Given the description of an element on the screen output the (x, y) to click on. 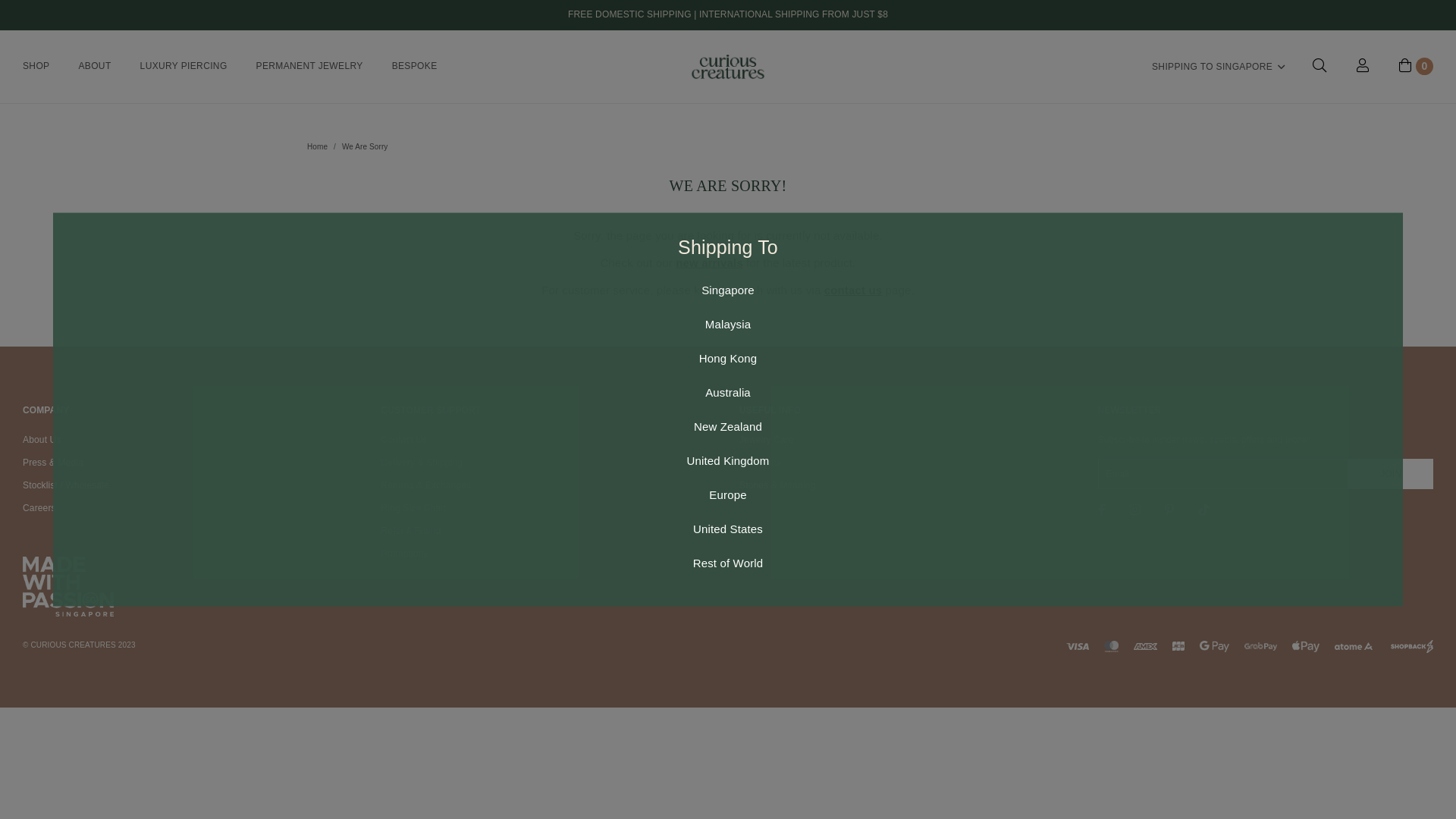
PERMANENT JEWELRY Element type: text (309, 66)
0 Element type: text (1416, 65)
Stocklist / Wholesale Element type: text (65, 485)
SHIPPING TO SINGAPORE Element type: text (1218, 66)
BESPOKE Element type: text (414, 66)
Delivery & Shipping Element type: text (421, 462)
Stones & Meaning Element type: text (777, 485)
SHOP Element type: text (35, 66)
Ring Size Chart Element type: text (412, 508)
new arrivals Element type: text (709, 262)
Jewelry Care Element type: text (766, 440)
Home Element type: text (317, 146)
Careers Element type: text (39, 508)
Refer A Friend Element type: text (410, 531)
About Us Element type: text (41, 440)
Join Element type: text (1390, 473)
Contact Us Element type: text (403, 440)
Submit Element type: text (43, 18)
contact us Element type: text (853, 289)
Birthstone Element type: text (760, 462)
Promotions Element type: text (403, 553)
ABOUT Element type: text (94, 66)
LUXURY PIERCING Element type: text (183, 66)
Returns & Exchanges Element type: text (425, 485)
Press & Media Element type: text (52, 462)
